Given the description of an element on the screen output the (x, y) to click on. 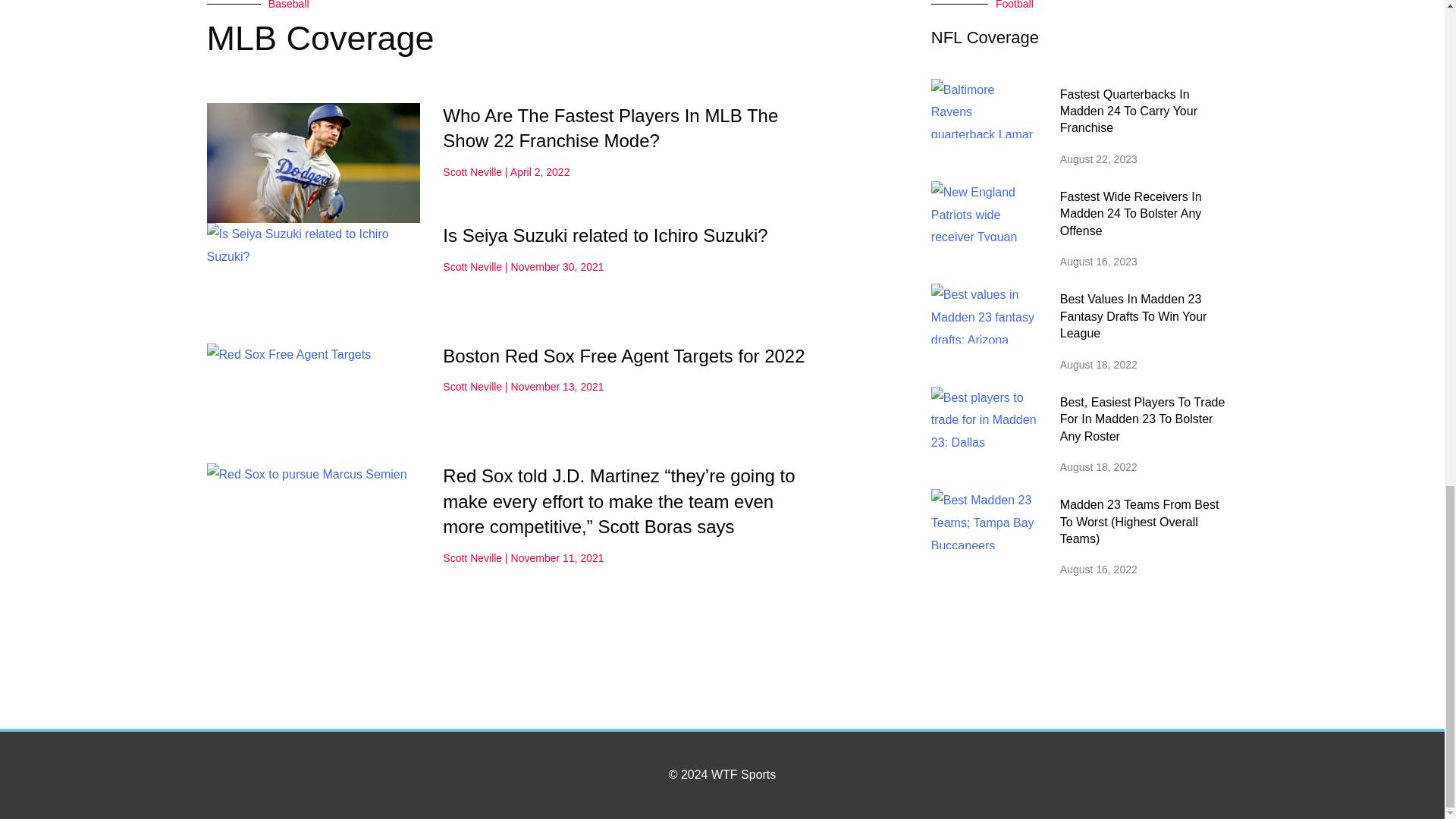
Is Seiya Suzuki related to Ichiro Suzuki? (604, 235)
Fastest Wide Receivers In Madden 24 To Bolster Any Offense (1130, 213)
Boston Red Sox Free Agent Targets for 2022 (623, 355)
Best Values In Madden 23 Fantasy Drafts To Win Your League (1133, 315)
Fastest Quarterbacks In Madden 24 To Carry Your Franchise (1127, 111)
